Given the description of an element on the screen output the (x, y) to click on. 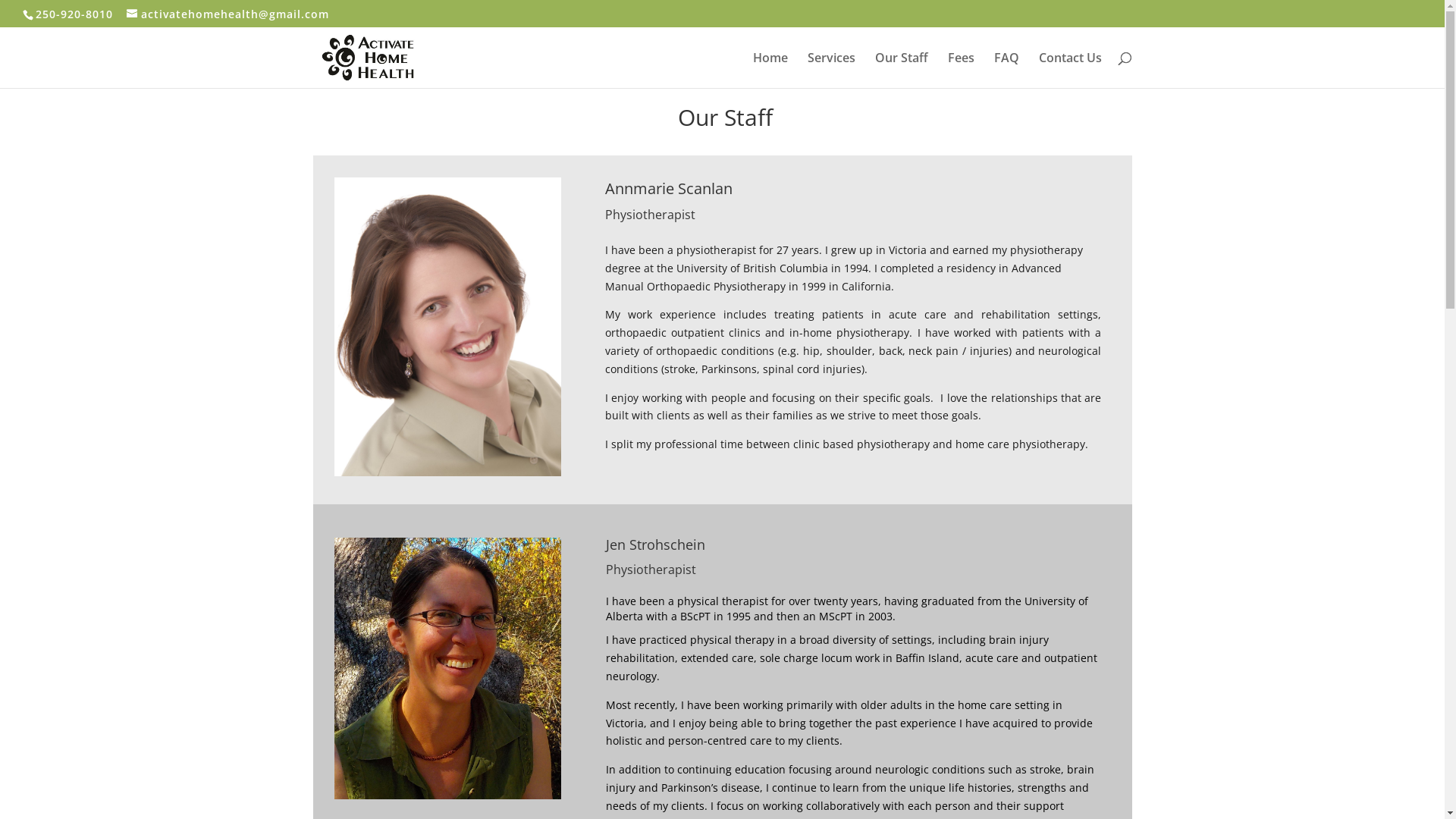
Home Element type: text (769, 69)
FAQ Element type: text (1005, 69)
Fees Element type: text (960, 69)
Contact Us Element type: text (1069, 69)
Our Staff Element type: text (901, 69)
activatehomehealth@gmail.com Element type: text (227, 13)
Services Element type: text (830, 69)
